Given the description of an element on the screen output the (x, y) to click on. 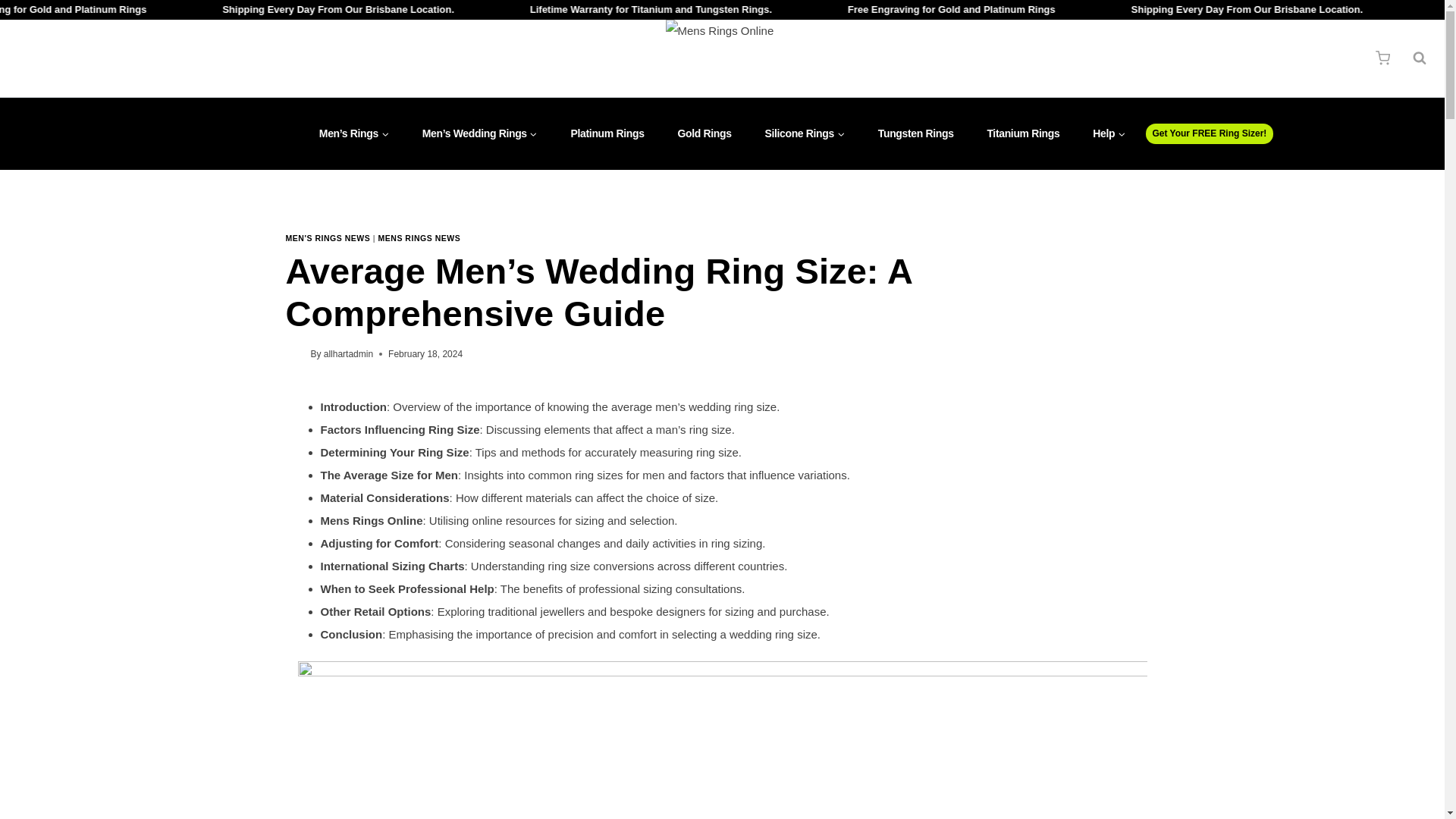
Silicone Rings (804, 133)
Platinum Rings (607, 133)
Titanium Rings (1024, 133)
Help (1108, 133)
Gold Rings (704, 133)
Tungsten Rings (916, 133)
